Given the description of an element on the screen output the (x, y) to click on. 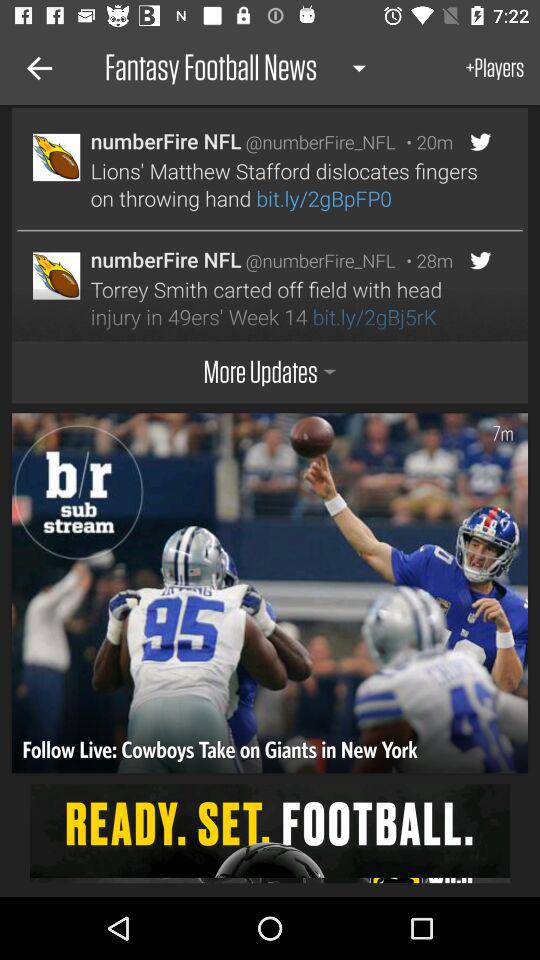
turn on the icon to the left of fantasy football news icon (36, 68)
